Given the description of an element on the screen output the (x, y) to click on. 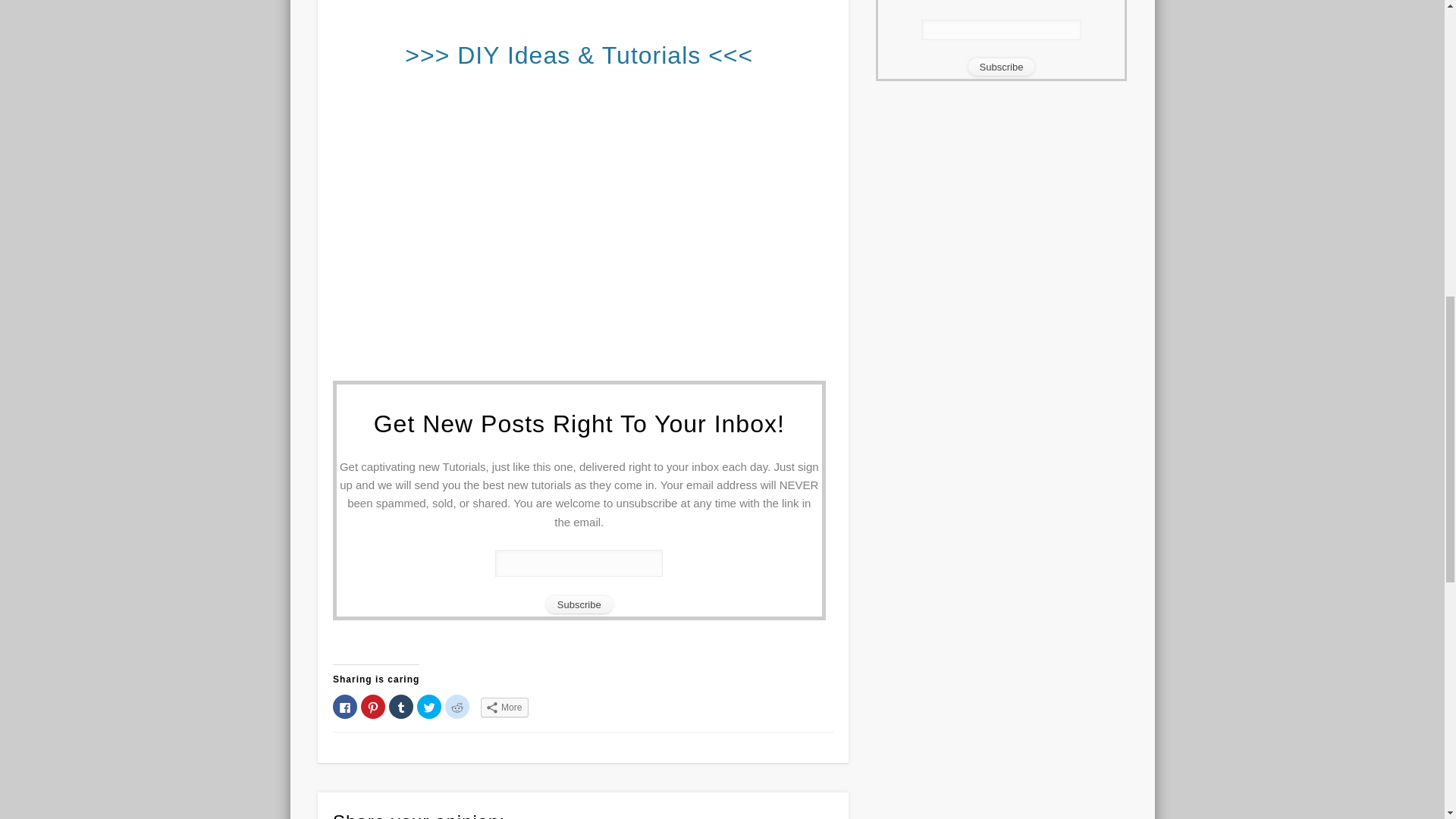
Click to share on Tumblr (400, 706)
Click to share on Facebook (344, 706)
Click to share on Twitter (428, 706)
Click to share on Reddit (456, 706)
More (504, 707)
Subscribe (1001, 67)
Click to share on Pinterest (373, 706)
Subscribe (579, 605)
Subscribe (579, 605)
Subscribe (1001, 67)
